Given the description of an element on the screen output the (x, y) to click on. 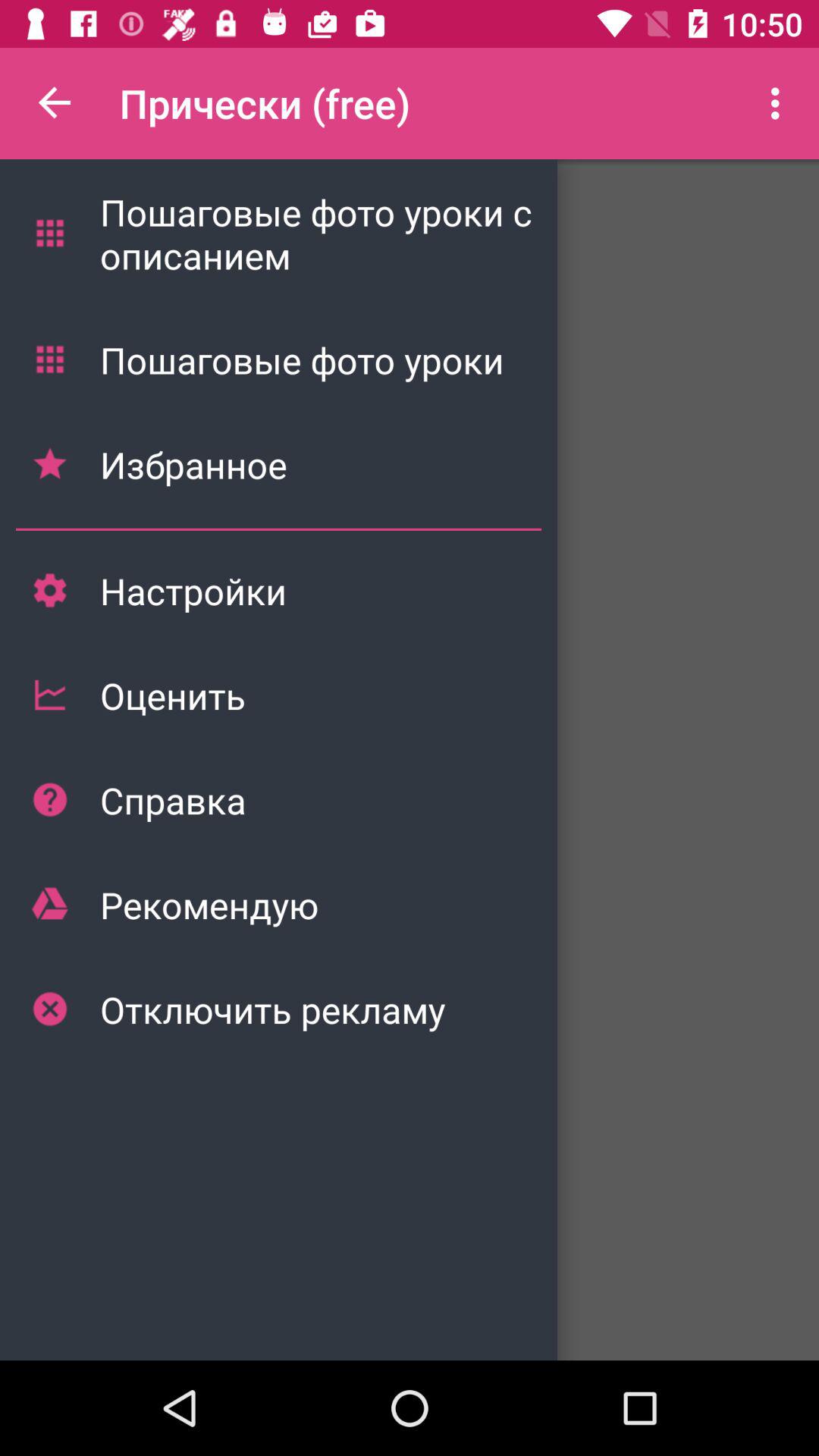
select the first menu symbol  from the options (49, 232)
